Given the description of an element on the screen output the (x, y) to click on. 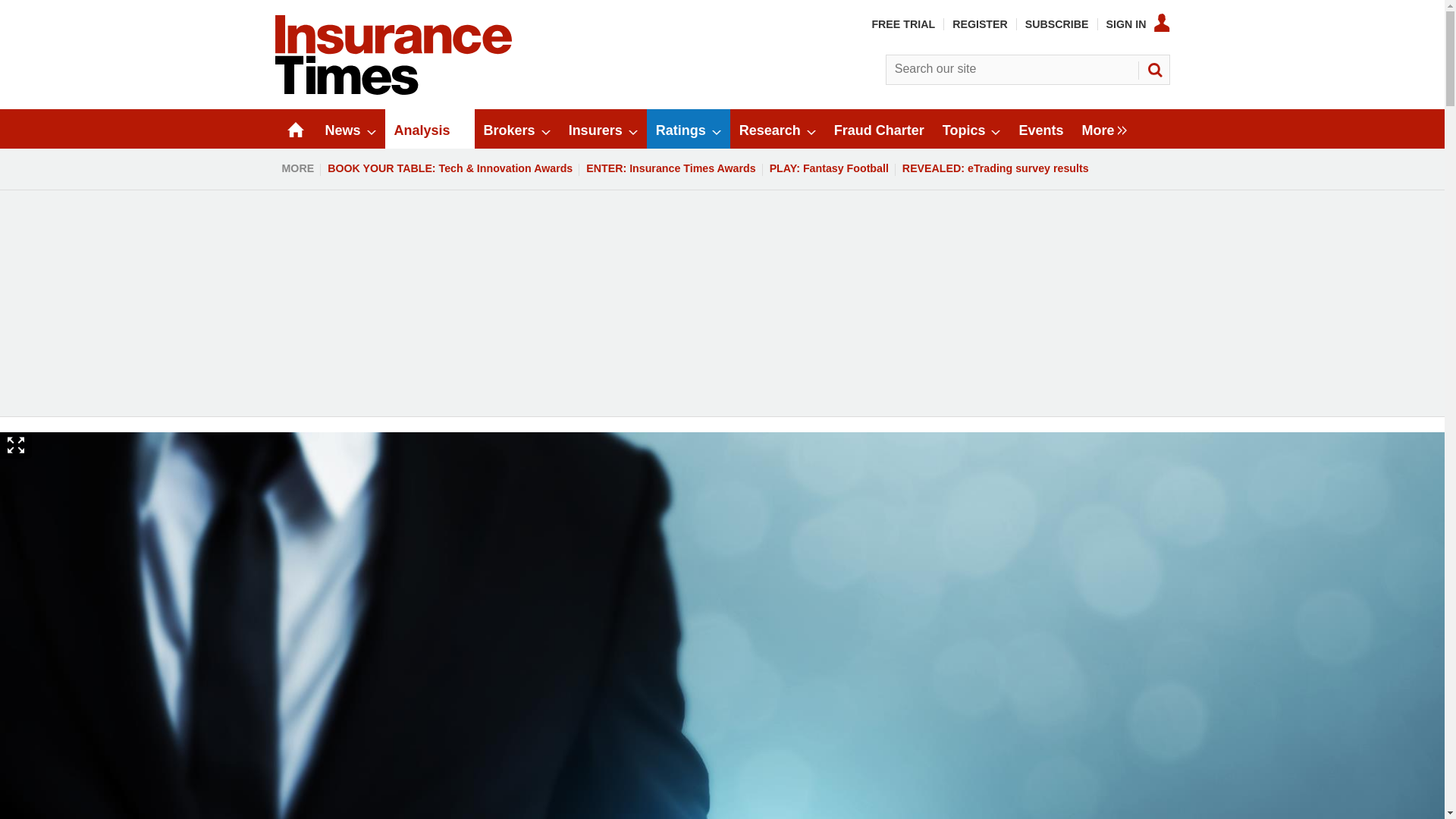
FREE TRIAL (902, 24)
PLAY: Fantasy Football (828, 168)
Insert Logo text (393, 90)
REGISTER (979, 24)
ENTER: Insurance Times Awards (670, 168)
SIGN IN (1138, 24)
SUBSCRIBE (1057, 24)
SEARCH (1153, 69)
REVEALED: eTrading survey results (995, 168)
